Given the description of an element on the screen output the (x, y) to click on. 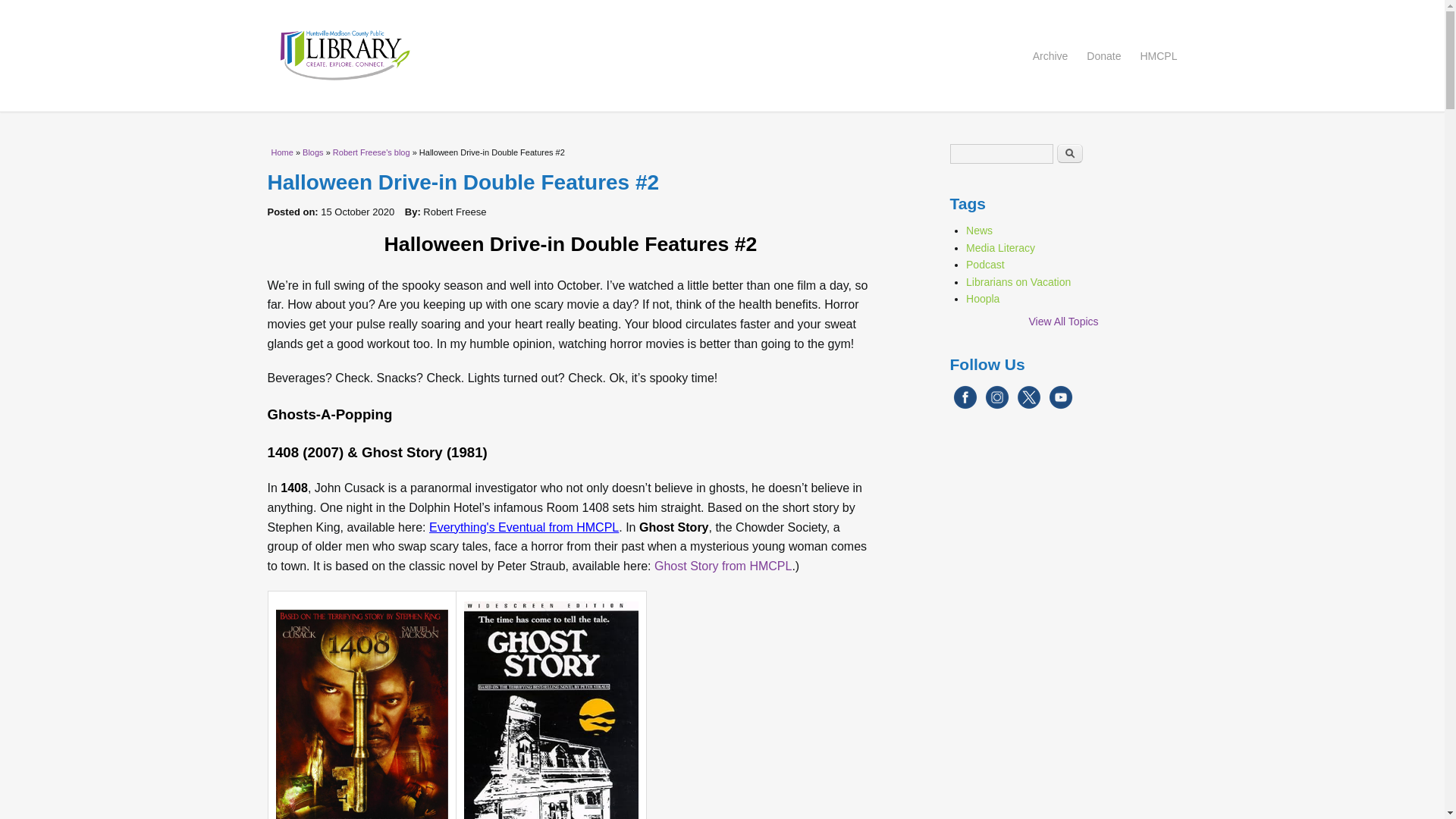
Archive (1050, 55)
X (1028, 405)
Visit our Main Stie (1158, 55)
Blogs (312, 152)
Enter the terms you wish to search for. (1000, 153)
Ghost Story from HMCPL (722, 565)
Donate (1103, 55)
Home (721, 55)
Home (282, 152)
HMCPL (1158, 55)
